Given the description of an element on the screen output the (x, y) to click on. 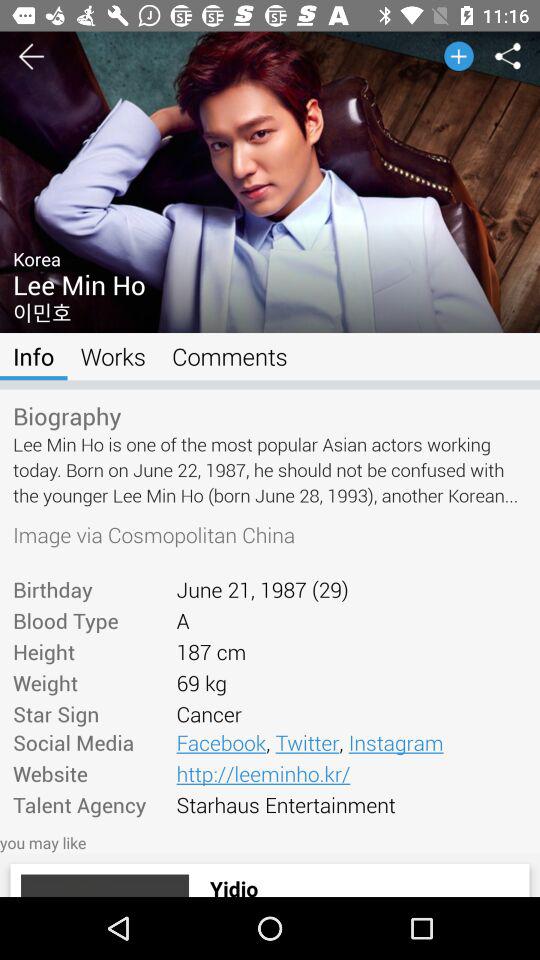
choose item next to social media icon (351, 773)
